Given the description of an element on the screen output the (x, y) to click on. 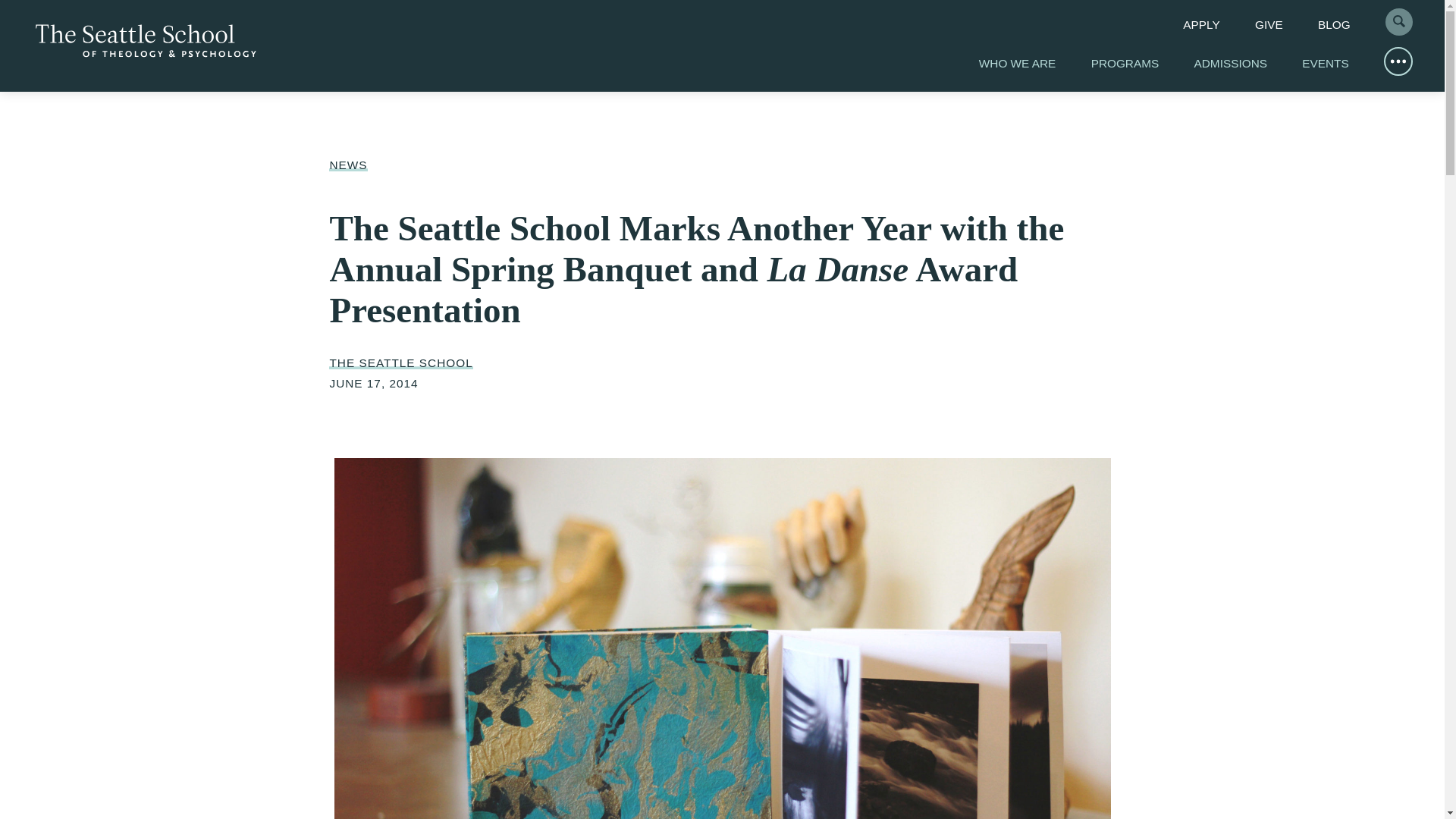
BLOG (1334, 24)
ADMISSIONS (1229, 62)
EVENTS (1324, 62)
MORE (1398, 61)
APPLY (1201, 24)
NEWS (347, 164)
GIVE (1268, 24)
WHO WE ARE (1017, 62)
PROGRAMS (1124, 62)
